Given the description of an element on the screen output the (x, y) to click on. 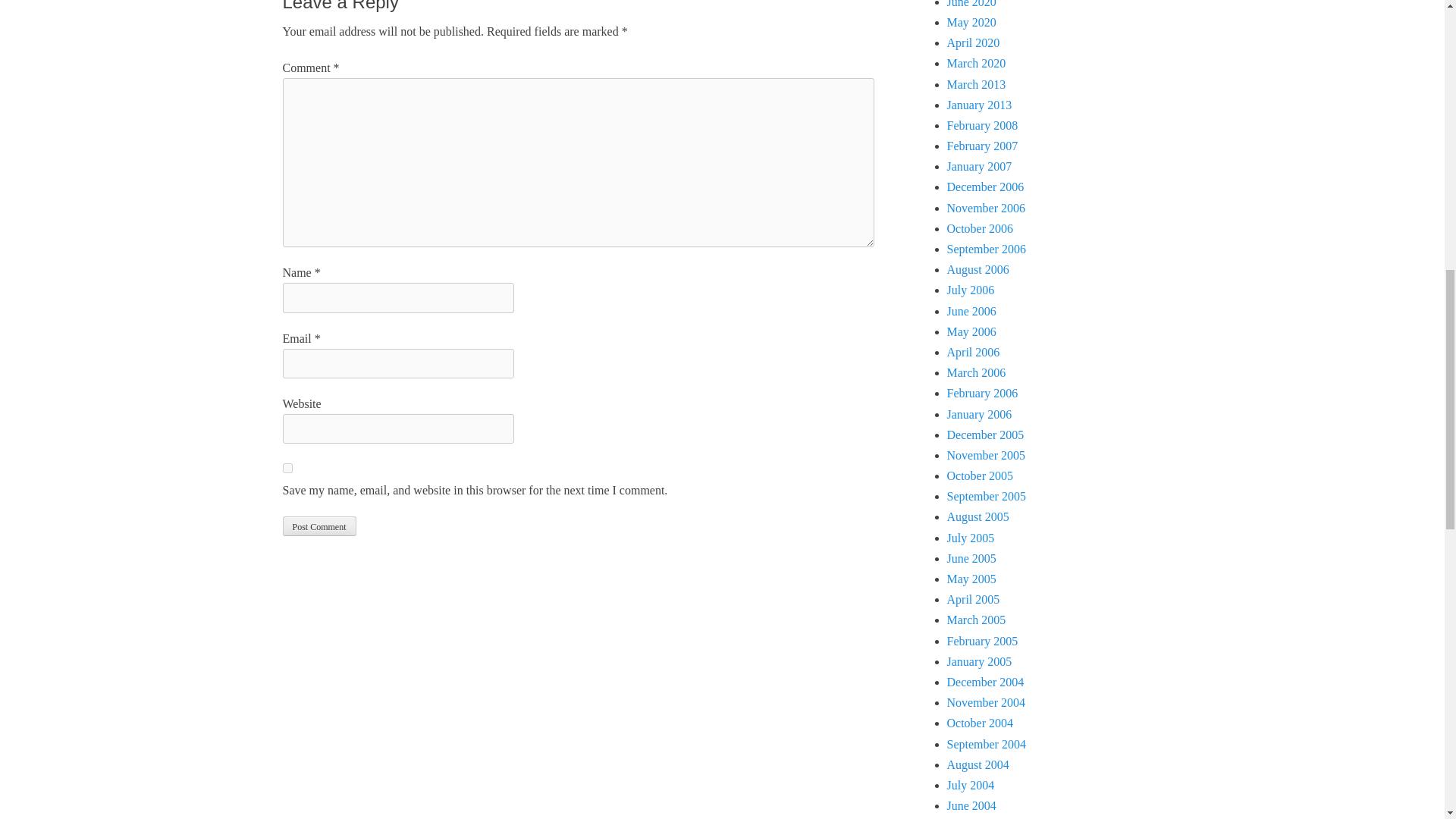
Post Comment (318, 526)
yes (287, 468)
Post Comment (318, 526)
